Given the description of an element on the screen output the (x, y) to click on. 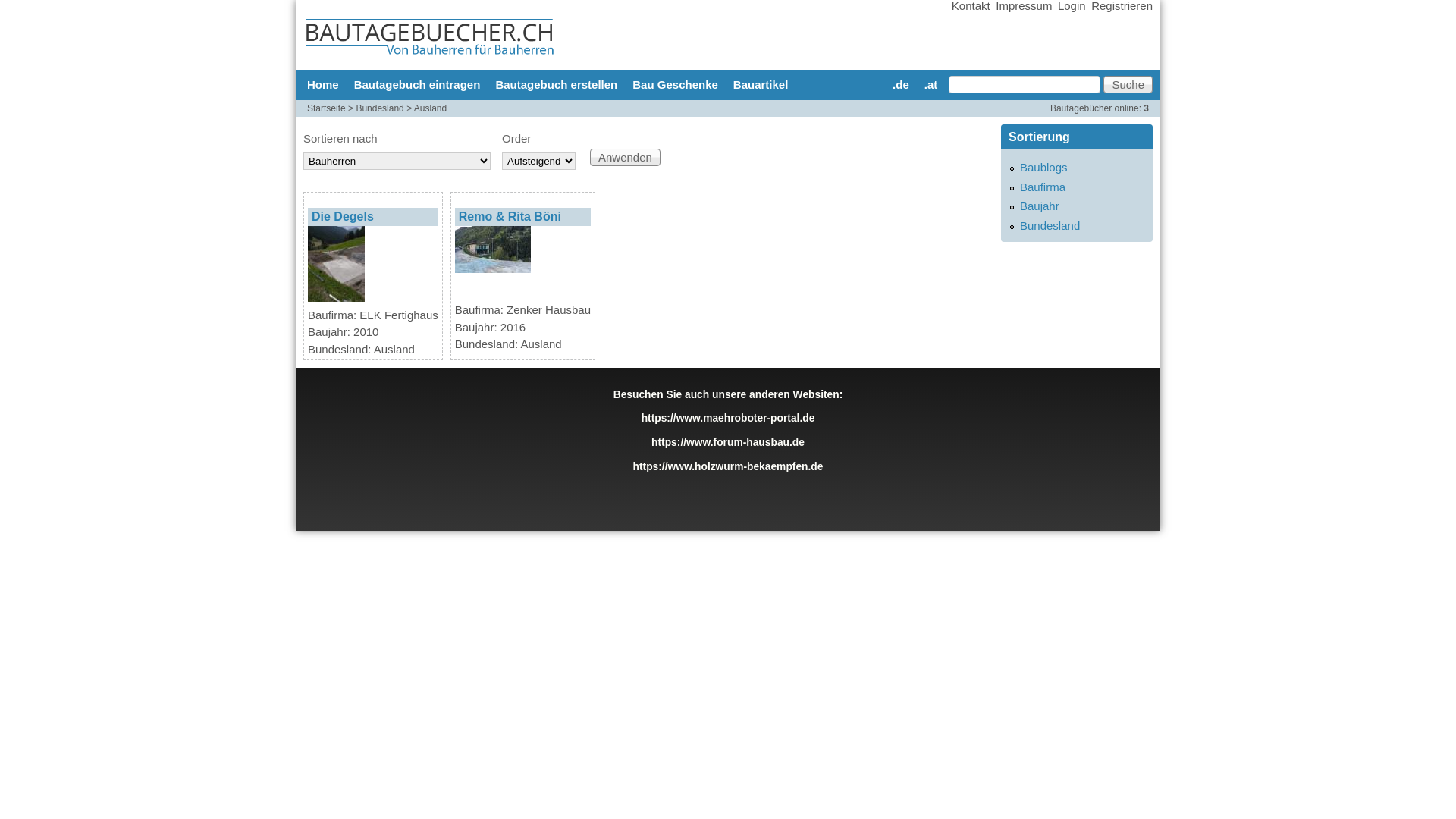
Bauartikel Element type: text (760, 84)
Die Degels Element type: text (342, 216)
https://www.forum-hausbau.de Element type: text (727, 442)
Anwenden Element type: text (624, 157)
Bautagebuch erstellen Element type: text (555, 84)
Startseite Element type: text (326, 108)
.de Element type: text (900, 84)
https://www.maehroboter-portal.de Element type: text (728, 417)
Geben Sie die Begriffe ein, nach denen Sie suchen. Element type: hover (1024, 84)
Bundesland Element type: text (379, 108)
Bundesland Element type: text (1049, 225)
Bautagebuch eintragen Element type: text (417, 84)
.at Element type: text (930, 84)
Suche Element type: text (1127, 84)
Baufirma Element type: text (1042, 186)
Baublogs Element type: text (1043, 166)
Bau Geschenke Element type: text (674, 84)
Baujahr Element type: text (1039, 205)
Zenker Hausbau GmbH - Golob Immobilien Element type: hover (492, 249)
Home Element type: text (322, 84)
Direkt zum Inhalt Element type: text (702, 0)
https://www.holzwurm-bekaempfen.de Element type: text (728, 466)
